Given the description of an element on the screen output the (x, y) to click on. 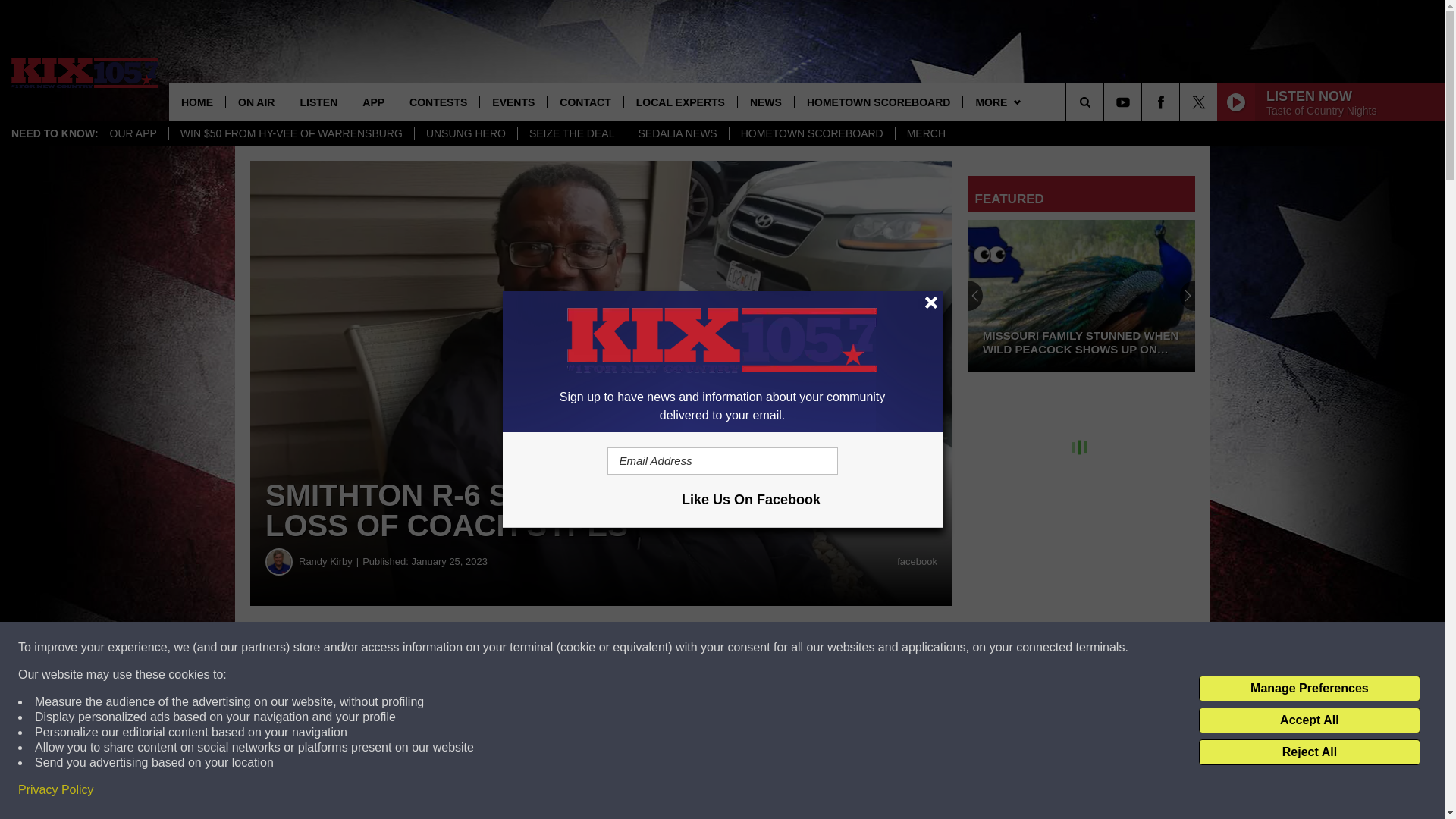
APP (372, 102)
SEDALIA NEWS (677, 133)
HOME (196, 102)
Reject All (1309, 751)
CONTESTS (437, 102)
ON AIR (255, 102)
UNSUNG HERO (464, 133)
SEARCH (1106, 102)
HOMETOWN SCOREBOARD (812, 133)
Share on Facebook (460, 647)
LISTEN (317, 102)
Privacy Policy (55, 789)
SEIZE THE DEAL (571, 133)
Manage Preferences (1309, 688)
MERCH (925, 133)
